Given the description of an element on the screen output the (x, y) to click on. 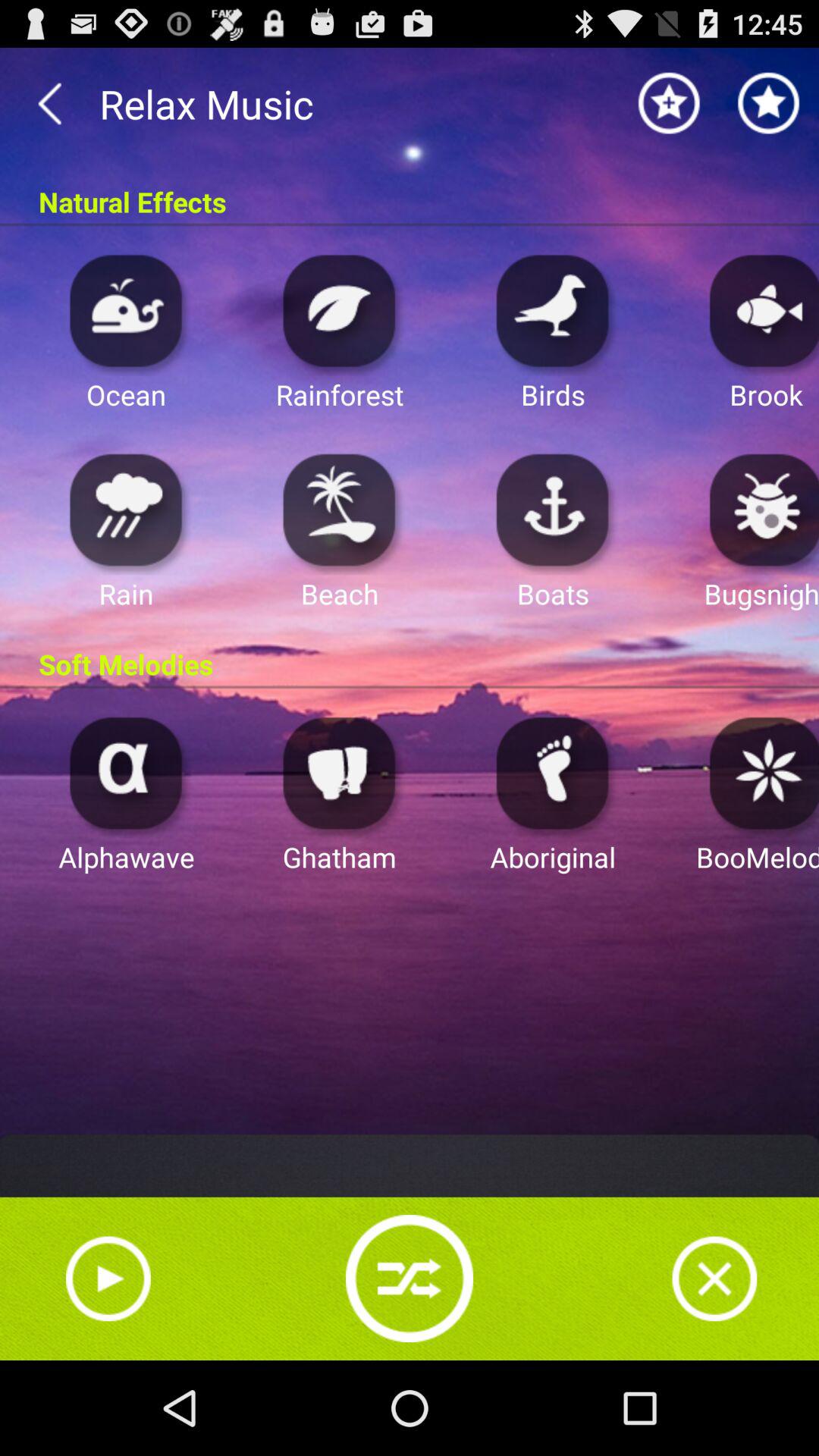
choose rainforest effect (339, 309)
